Given the description of an element on the screen output the (x, y) to click on. 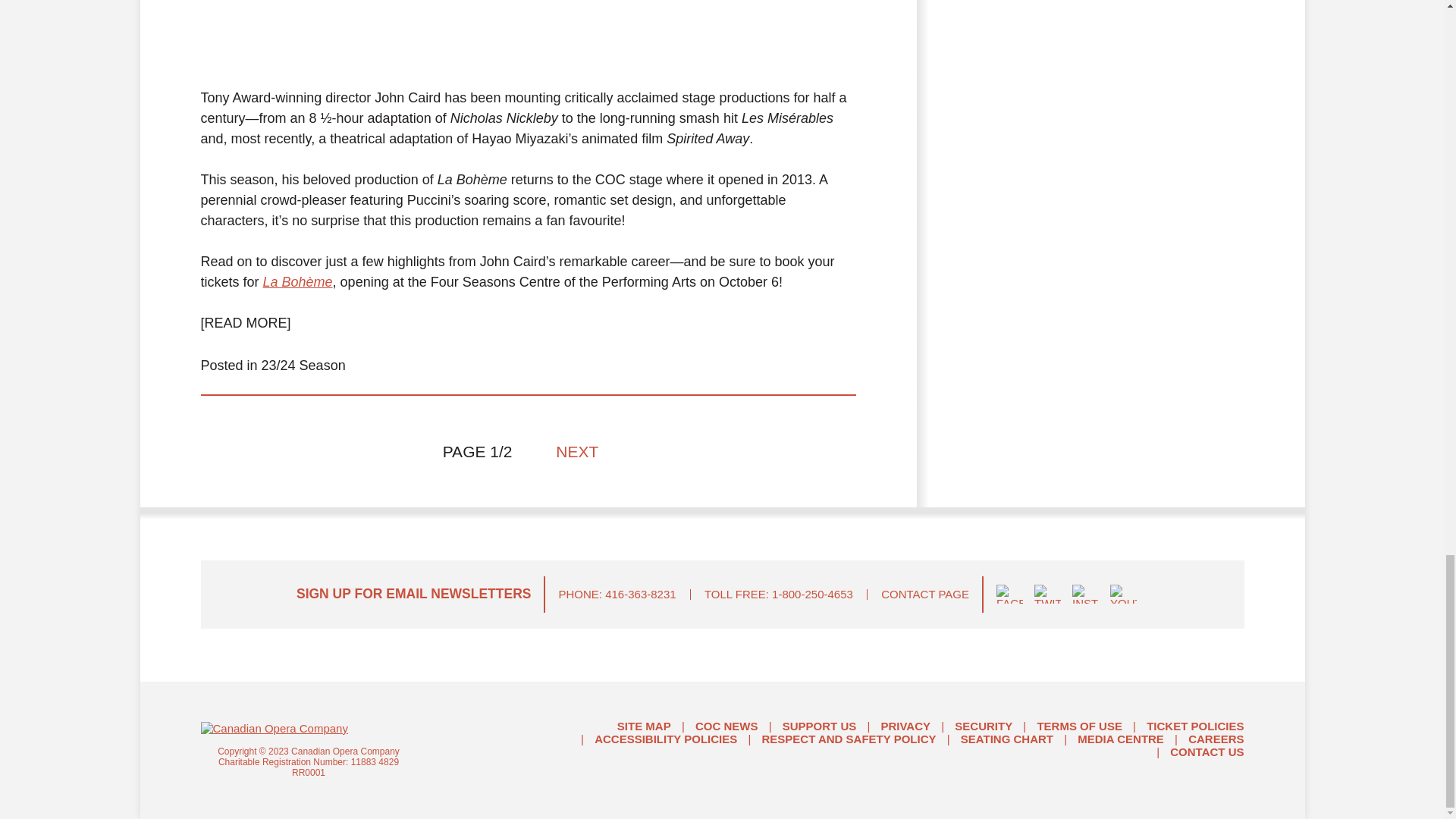
NEXT (584, 451)
